Given the description of an element on the screen output the (x, y) to click on. 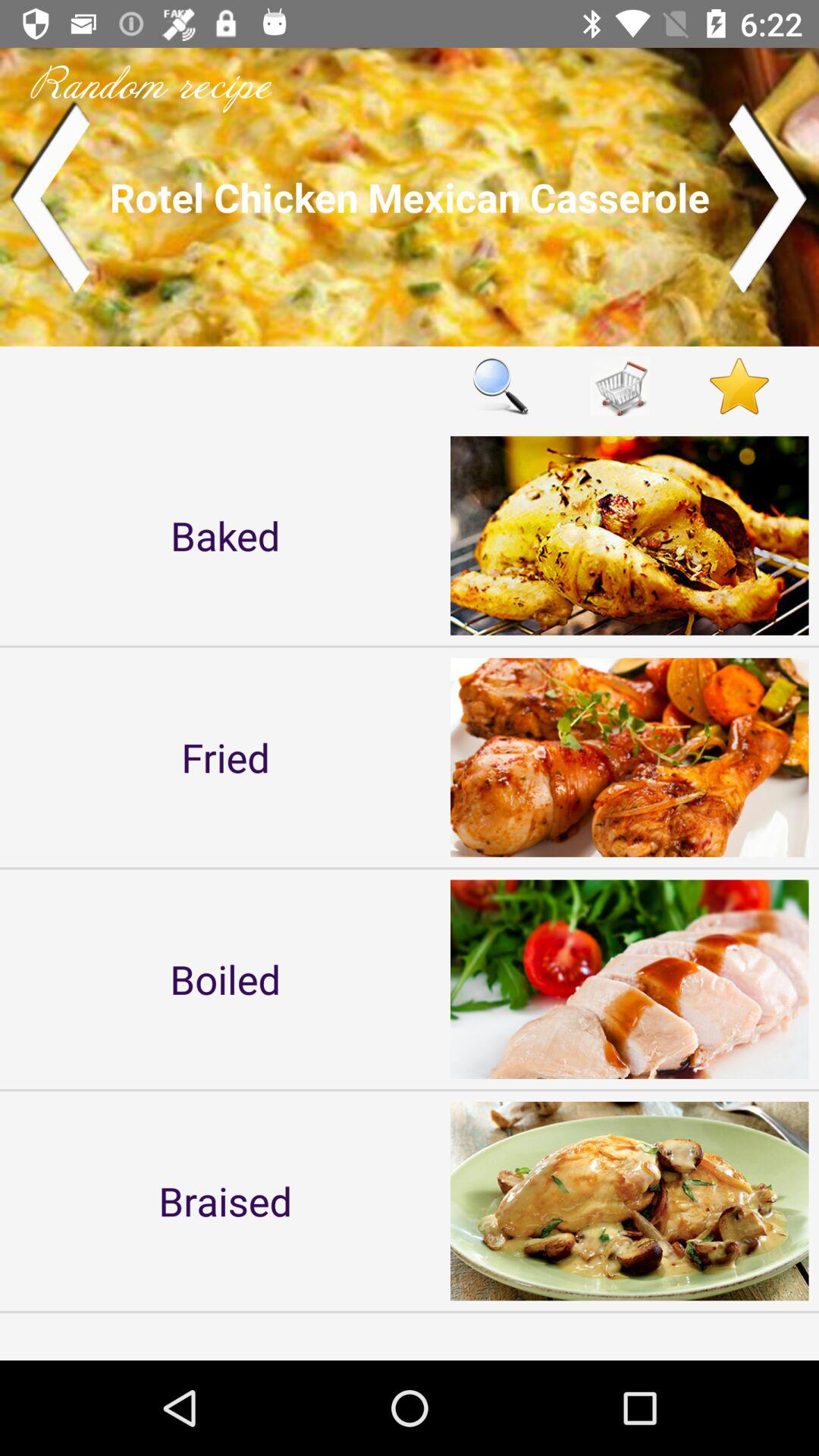
tap icon below fried item (225, 978)
